Given the description of an element on the screen output the (x, y) to click on. 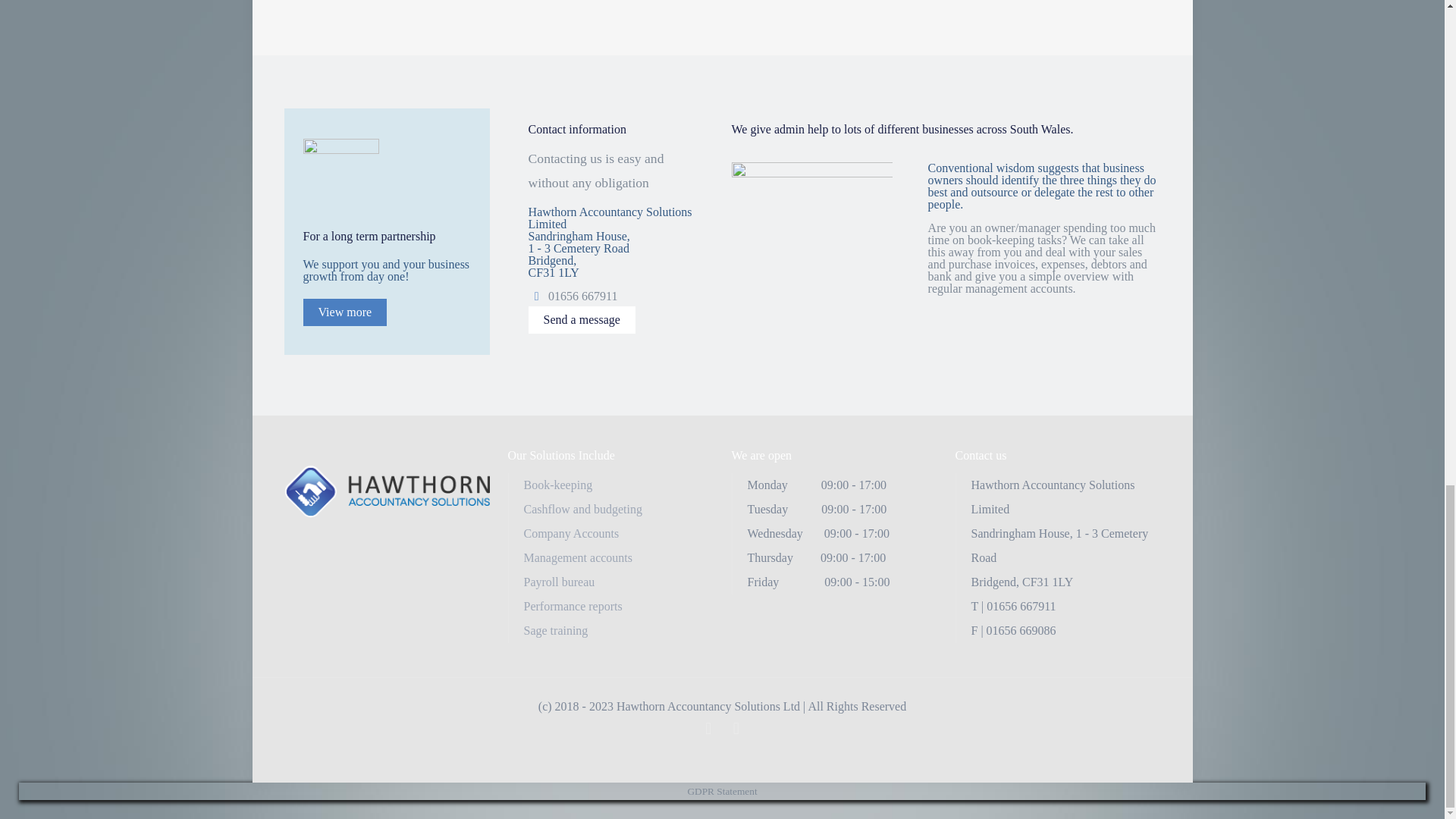
Facebook (708, 729)
Payroll bureau (558, 581)
Book-keeping (557, 484)
Sage training (555, 630)
Performance reports (571, 605)
Management accounts (576, 557)
Company Accounts (570, 533)
Send a message (581, 319)
View more (344, 311)
Cashflow and budgeting (582, 508)
Twitter (736, 729)
